Given the description of an element on the screen output the (x, y) to click on. 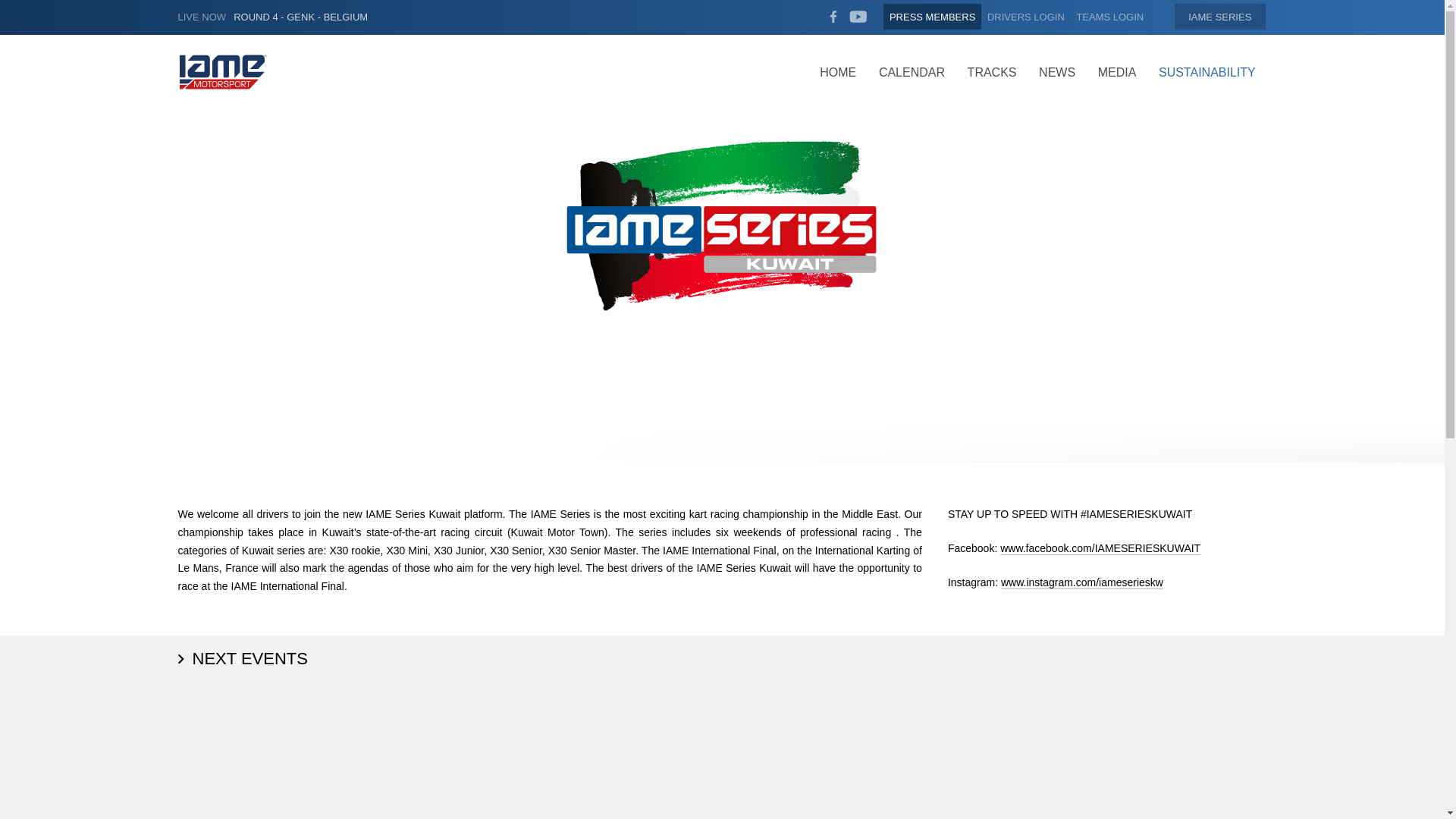
YOUTUBE (858, 17)
IAME (1219, 16)
LIVE NOW ROUND 4 - GENK - BELGIUM (273, 18)
DRIVERS LOGIN (1025, 16)
TEAMS LOGIN (1110, 16)
PRESS MEMBERS (932, 16)
